Given the description of an element on the screen output the (x, y) to click on. 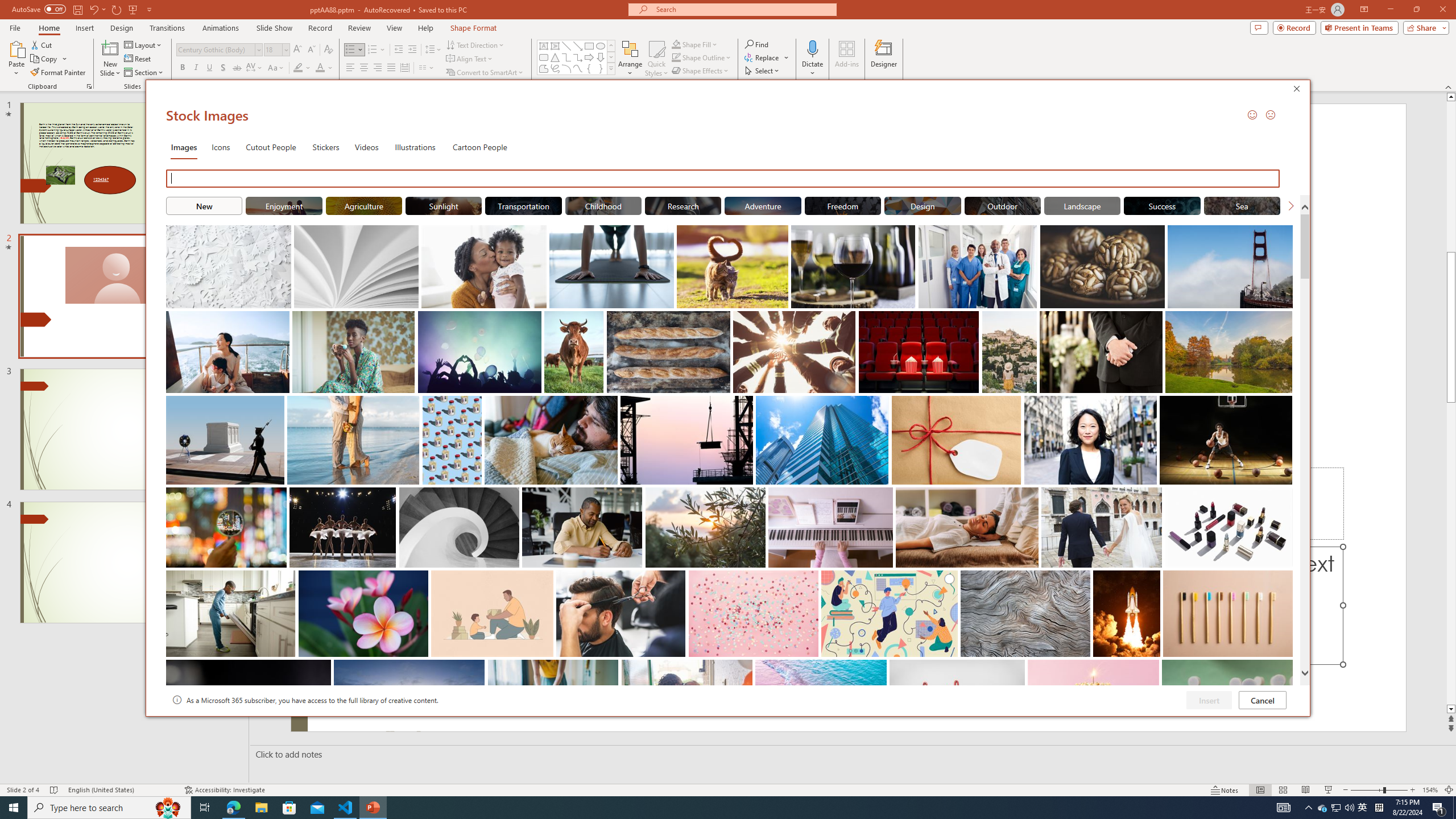
Illustrations (415, 146)
"Design" Stock Images. (921, 205)
"Agriculture" Stock Images. (363, 205)
